Given the description of an element on the screen output the (x, y) to click on. 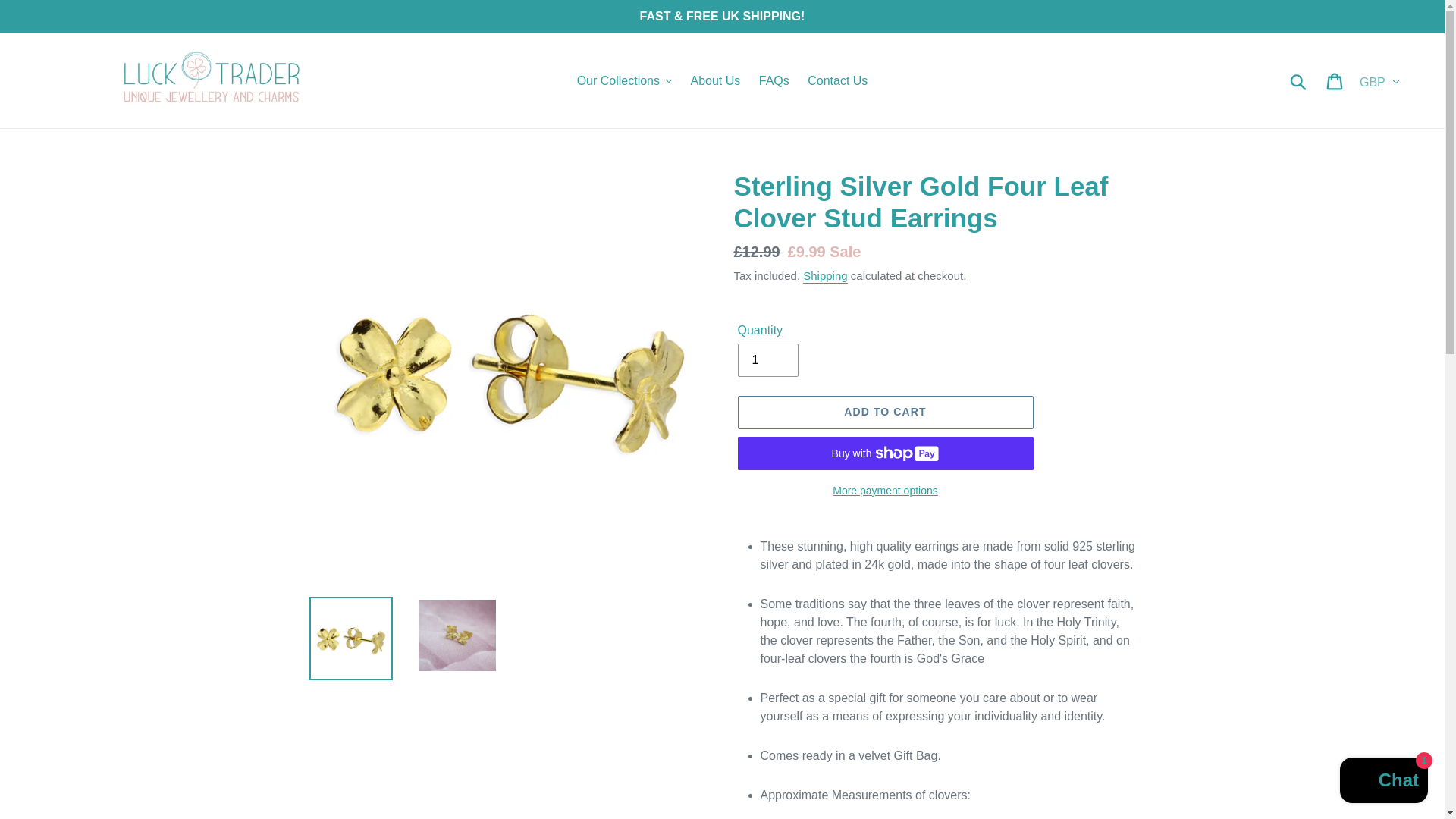
FAQs (773, 80)
Shopify online store chat (1383, 781)
Cart (1335, 80)
About Us (715, 80)
1 (766, 359)
Submit (1299, 80)
Contact Us (837, 80)
